Given the description of an element on the screen output the (x, y) to click on. 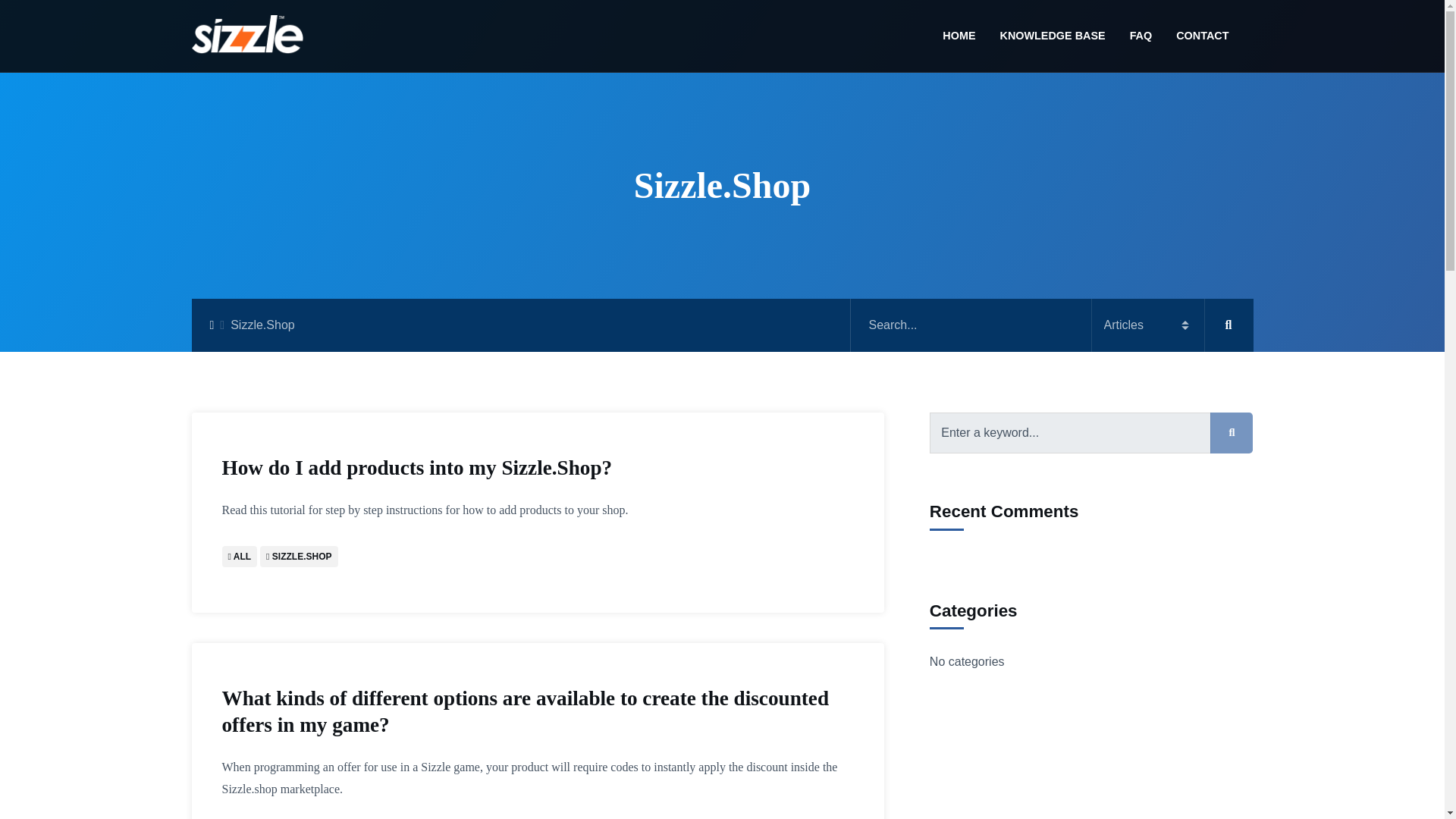
How do I add products into my Sizzle.Shop? (537, 468)
HOME (958, 36)
KNOWLEDGE BASE (1051, 36)
FAQ (1141, 36)
CONTACT (1195, 36)
